Given the description of an element on the screen output the (x, y) to click on. 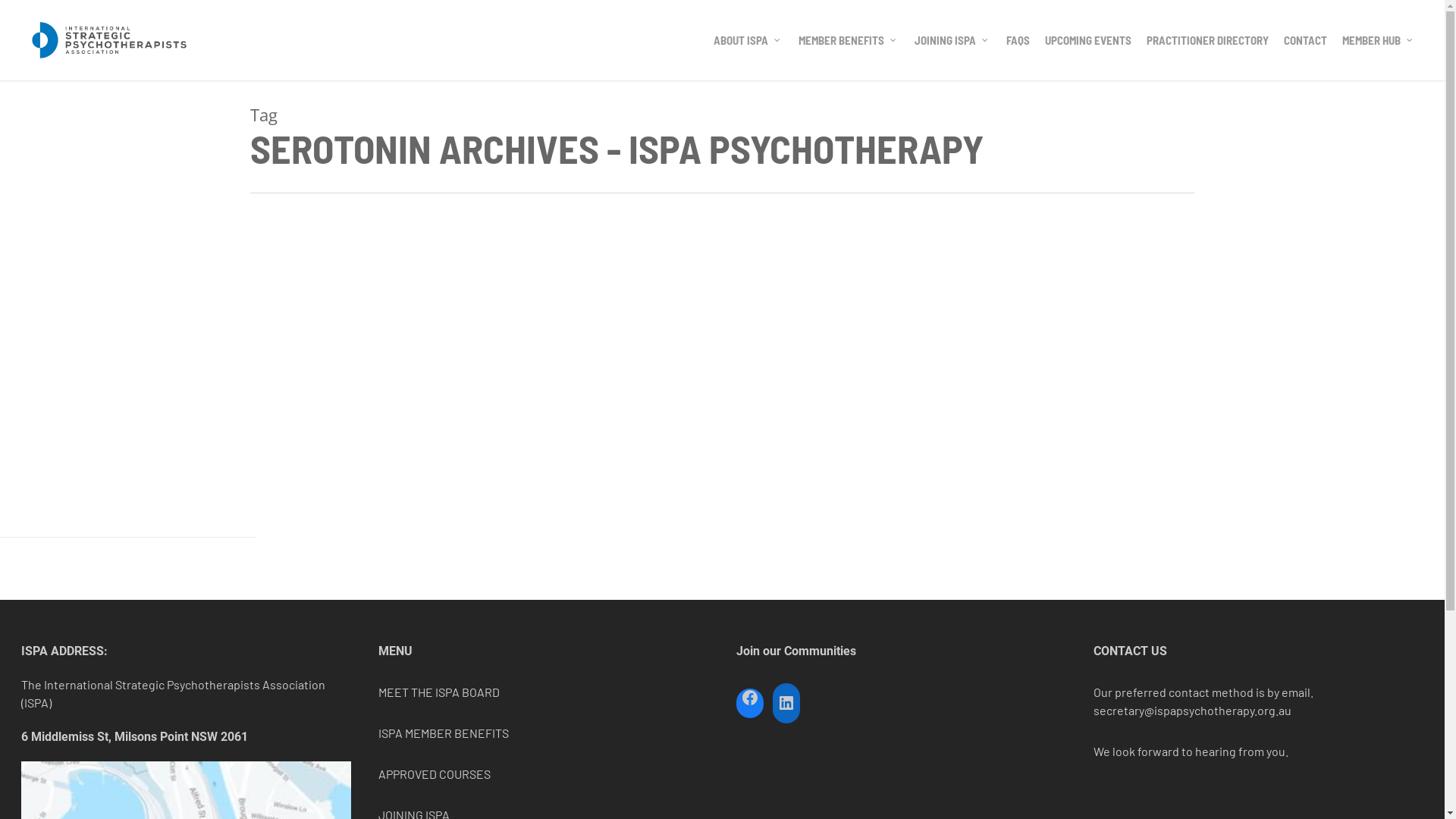
ISPA Element type: text (447, 691)
JOINING ISPA Element type: text (952, 40)
LinkedIn Element type: text (786, 702)
PRACTITIONER DIRECTORY Element type: text (1207, 40)
BOARD Element type: text (479, 691)
CONTACT Element type: text (1305, 40)
MEET THE Element type: text (406, 691)
FAQS Element type: text (1017, 40)
MEMBER HUB Element type: text (1378, 40)
Facebook Element type: text (749, 699)
secretary@ Element type: text (1123, 709)
ISPA MEMBER BENEFITS Element type: text (443, 732)
MEMBER BENEFITS Element type: text (848, 40)
ABOUT ISPA Element type: text (748, 40)
APPROVED COURSES Element type: text (434, 773)
UPCOMING EVENTS Element type: text (1088, 40)
